Given the description of an element on the screen output the (x, y) to click on. 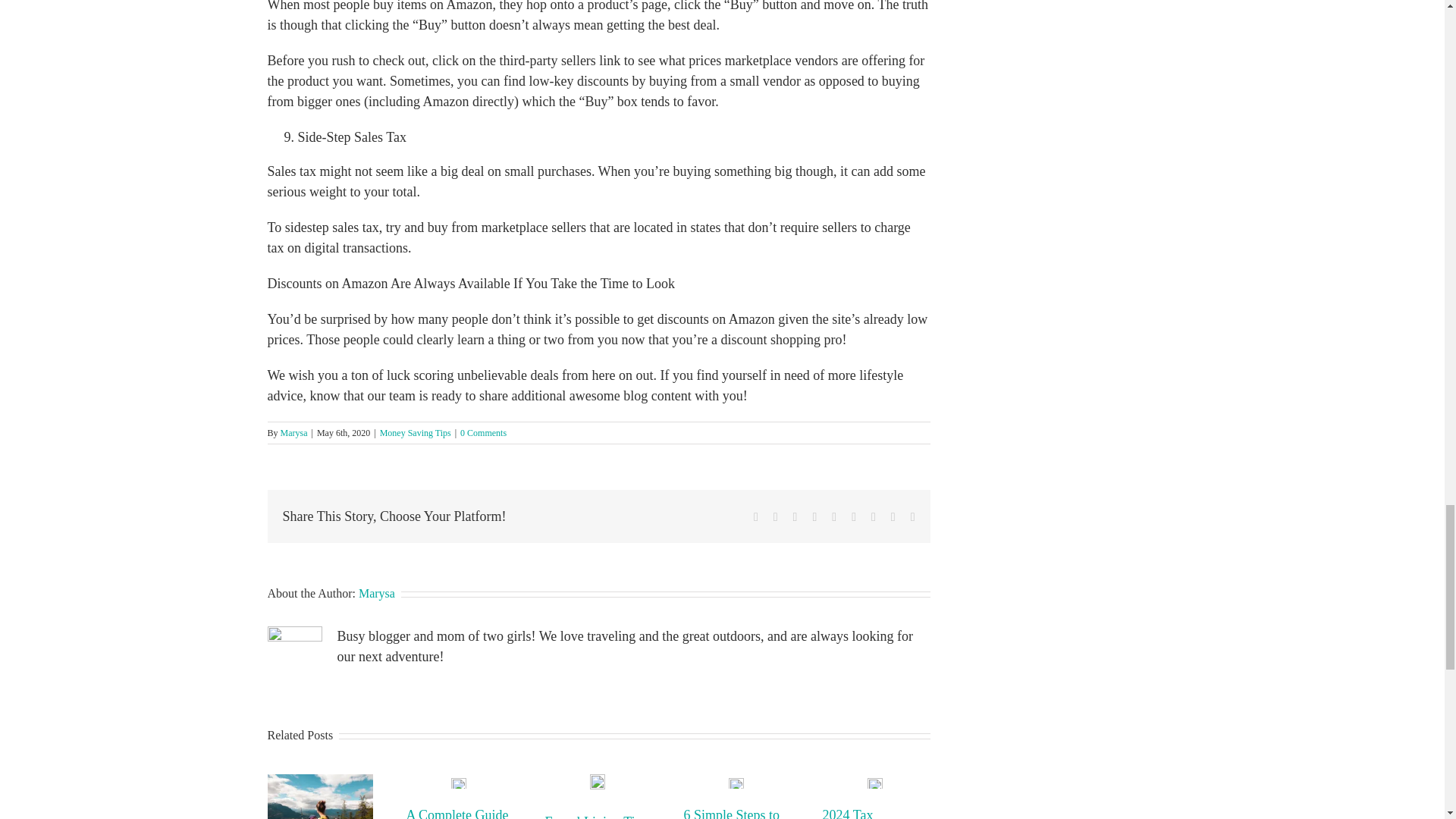
Posts by Marysa (294, 432)
